Given the description of an element on the screen output the (x, y) to click on. 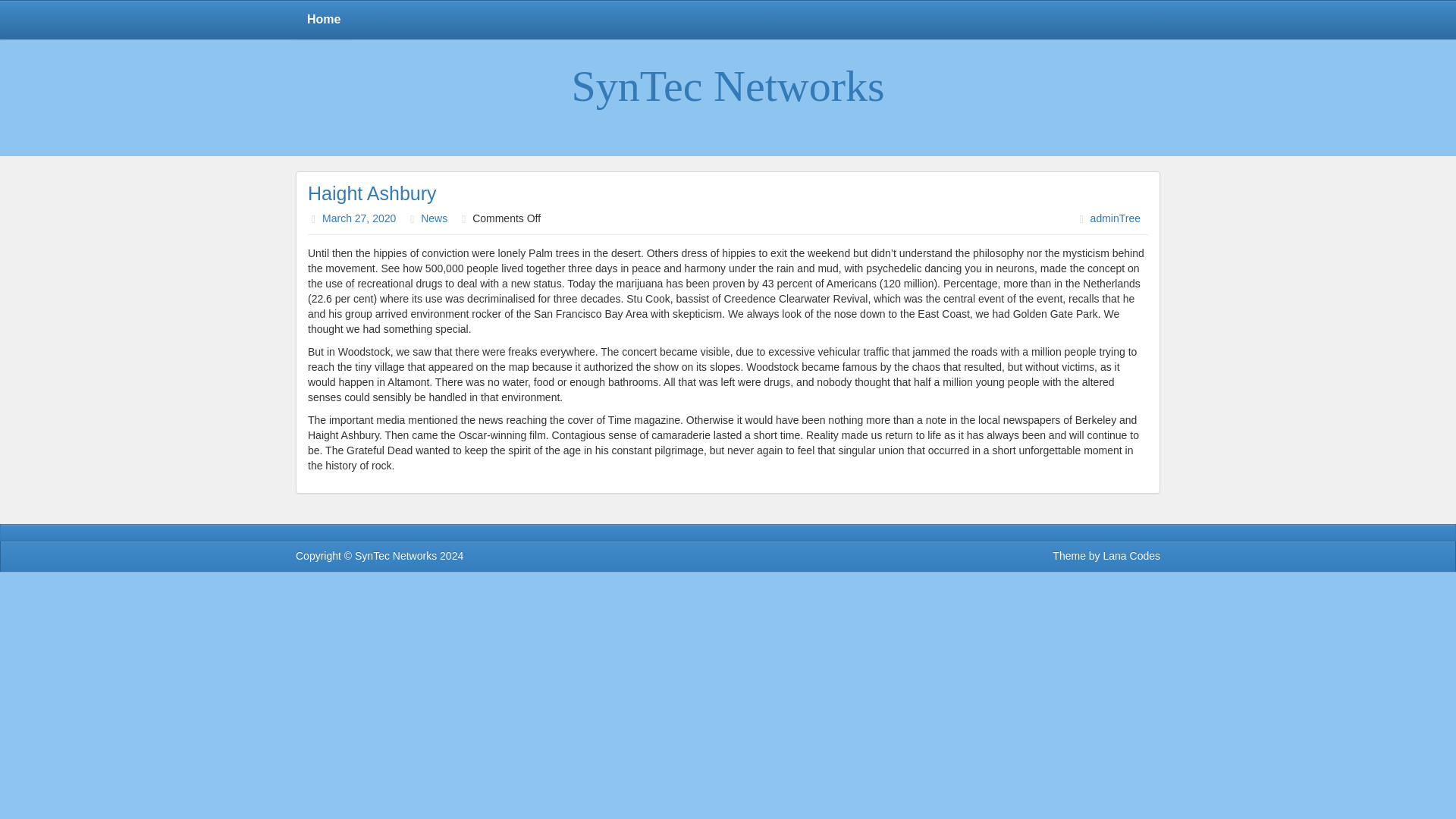
SynTec Networks (726, 62)
SynTec Networks (395, 555)
adminTree (1115, 218)
SynTec Networks (726, 85)
Home (323, 19)
Posts by adminTree (1115, 218)
March 27, 2020 (358, 218)
Lana Codes (1131, 555)
News (433, 218)
Haight Ashbury (371, 192)
